Given the description of an element on the screen output the (x, y) to click on. 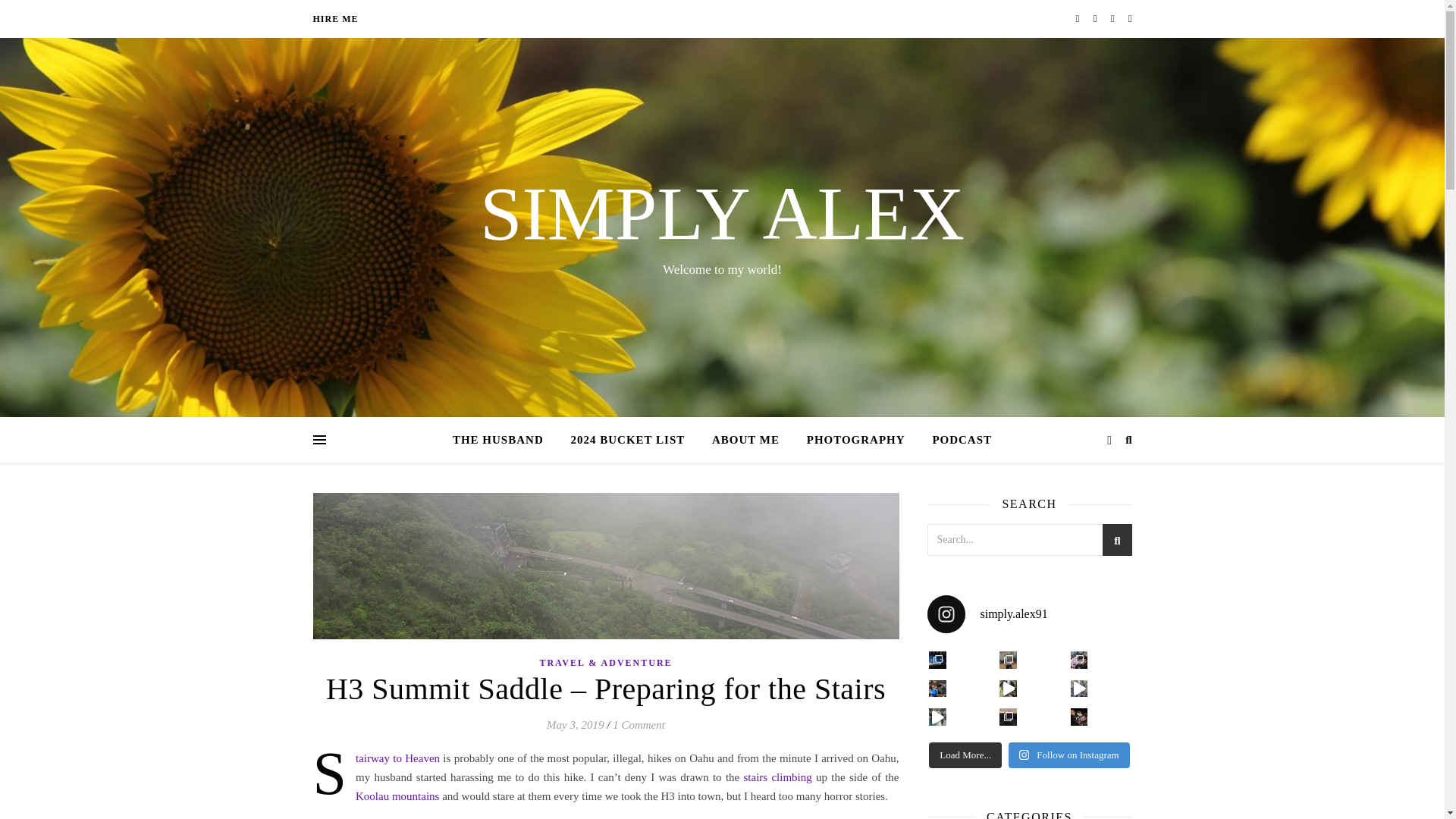
ABOUT ME (746, 439)
PODCAST (955, 439)
2024 BUCKET LIST (627, 439)
PHOTOGRAPHY (855, 439)
THE HUSBAND (504, 439)
HIRE ME (335, 18)
